Given the description of an element on the screen output the (x, y) to click on. 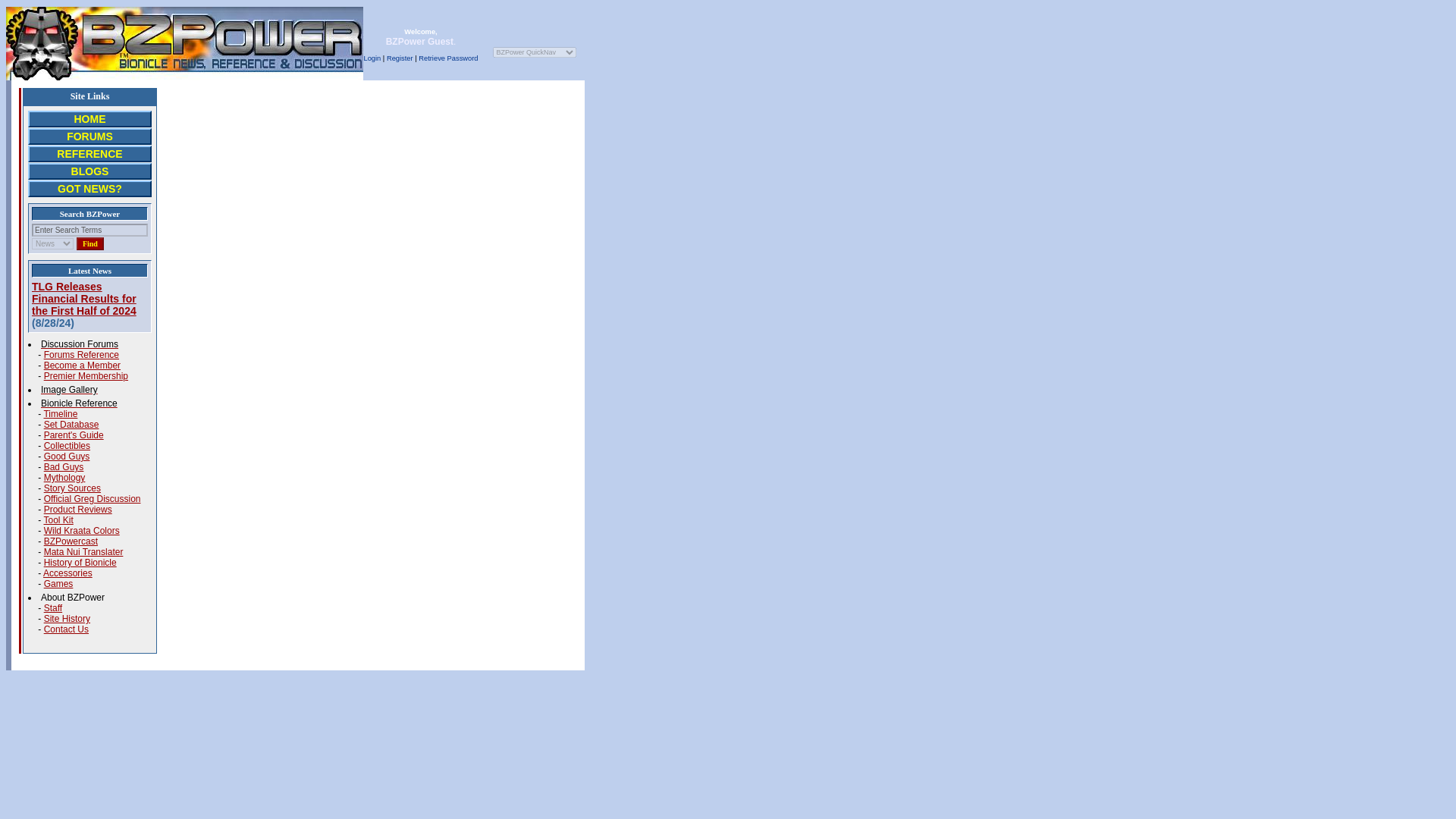
Contact Us (65, 629)
Good Guys (66, 456)
Collectibles (66, 445)
Games (58, 583)
Bad Guys (63, 466)
History of Bionicle (79, 562)
Retrieve Password (448, 58)
Story Sources (71, 488)
BLOGS (90, 171)
Timeline (60, 413)
